Given the description of an element on the screen output the (x, y) to click on. 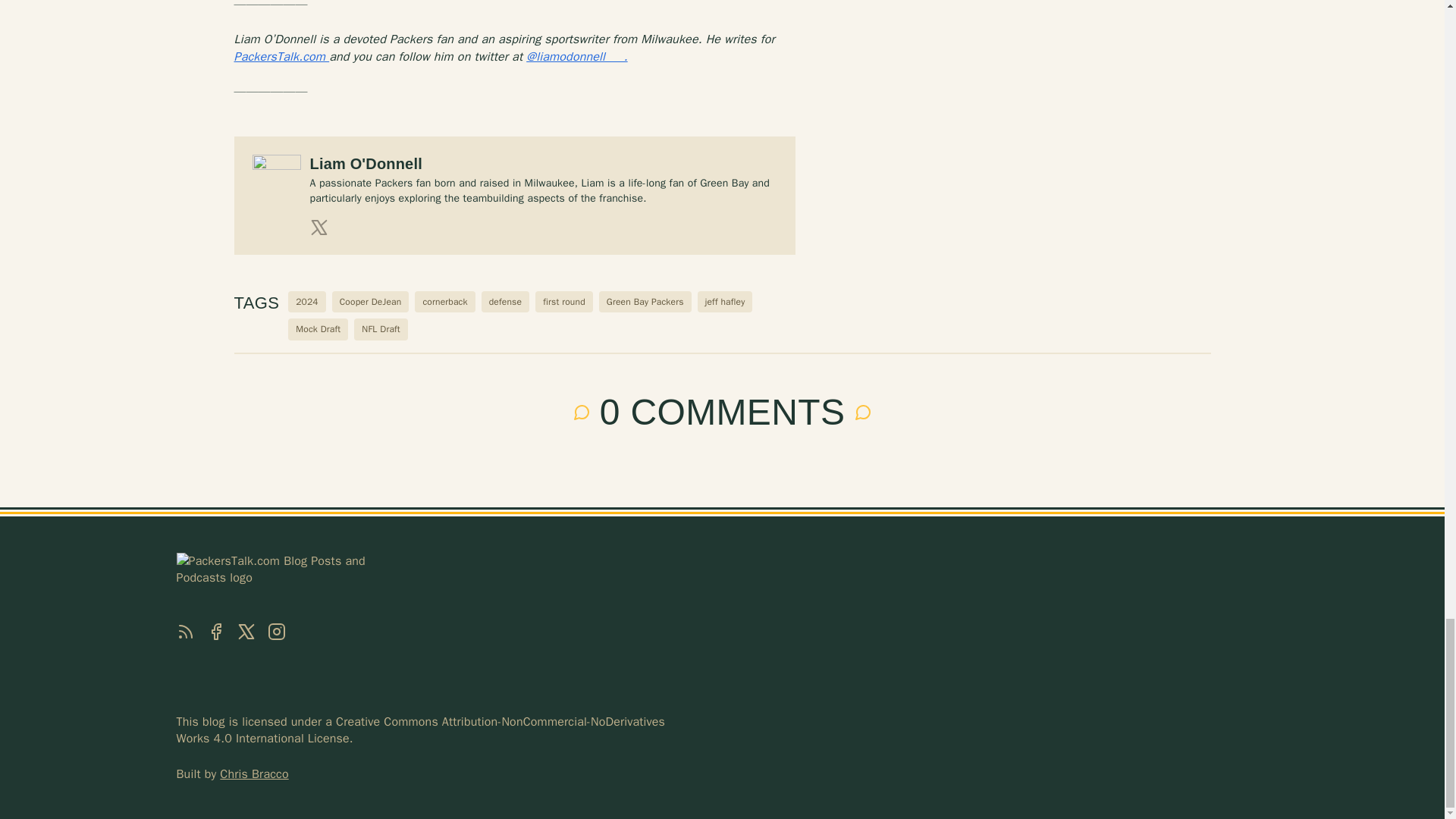
first round (563, 301)
2024 (307, 301)
PackersTalk.com (280, 56)
Mock Draft (317, 329)
defense (505, 301)
Green Bay Packers (644, 301)
PackersTalk.com (280, 56)
cornerback (444, 301)
jeff hafley (724, 301)
Cooper DeJean (370, 301)
